Given the description of an element on the screen output the (x, y) to click on. 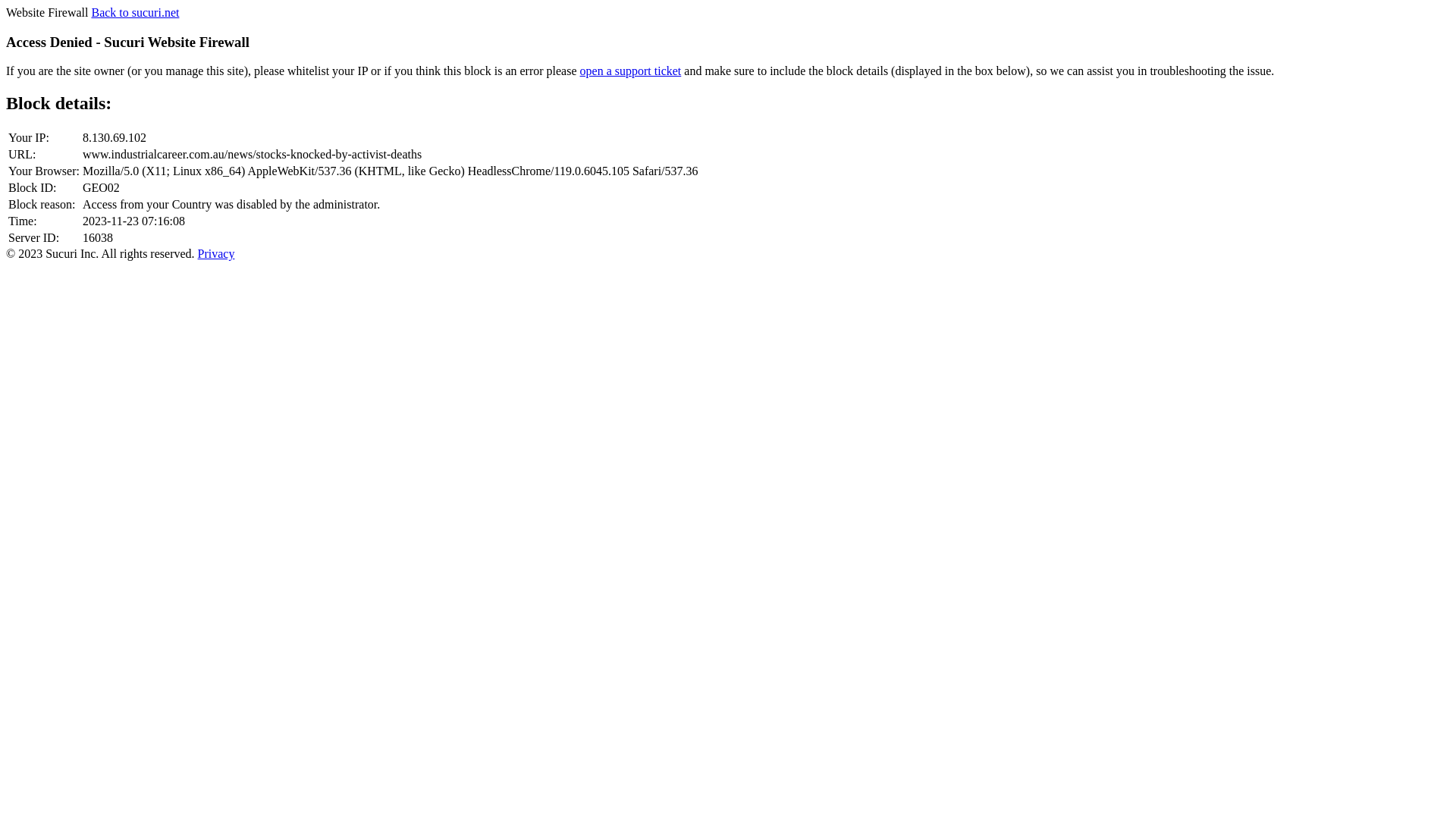
Back to sucuri.net Element type: text (134, 12)
Privacy Element type: text (216, 253)
open a support ticket Element type: text (630, 70)
